Given the description of an element on the screen output the (x, y) to click on. 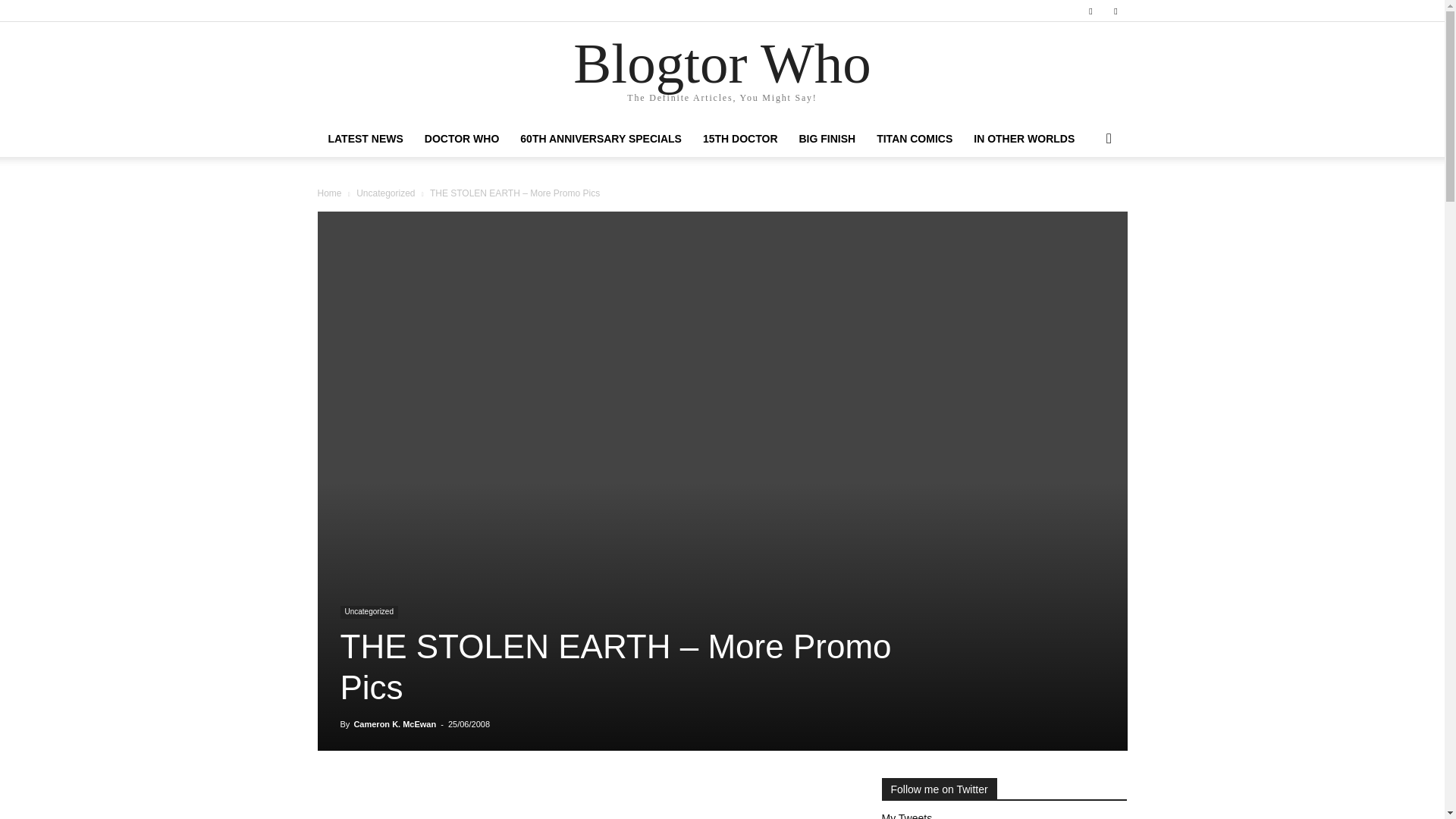
Uncategorized (368, 612)
Uncategorized (385, 193)
DOCTOR WHO (462, 138)
LATEST NEWS (365, 138)
Cameron K. McEwan (394, 723)
Search (1085, 199)
Blogtor Who The Definite Articles, You Might Say! (722, 72)
60TH ANNIVERSARY SPECIALS (601, 138)
15TH DOCTOR (741, 138)
Facebook (1090, 10)
